Given the description of an element on the screen output the (x, y) to click on. 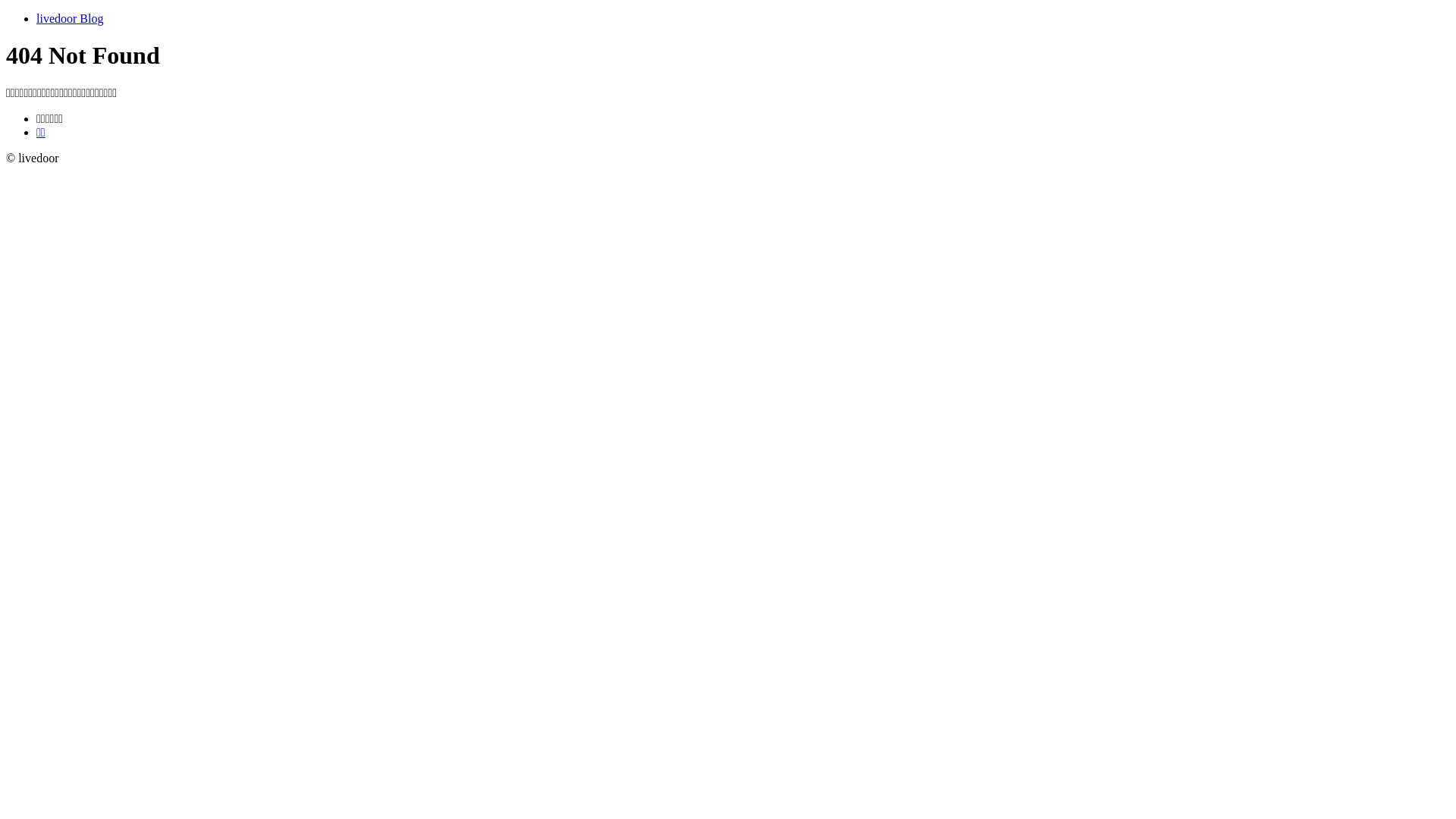
livedoor Blog Element type: text (69, 18)
